Given the description of an element on the screen output the (x, y) to click on. 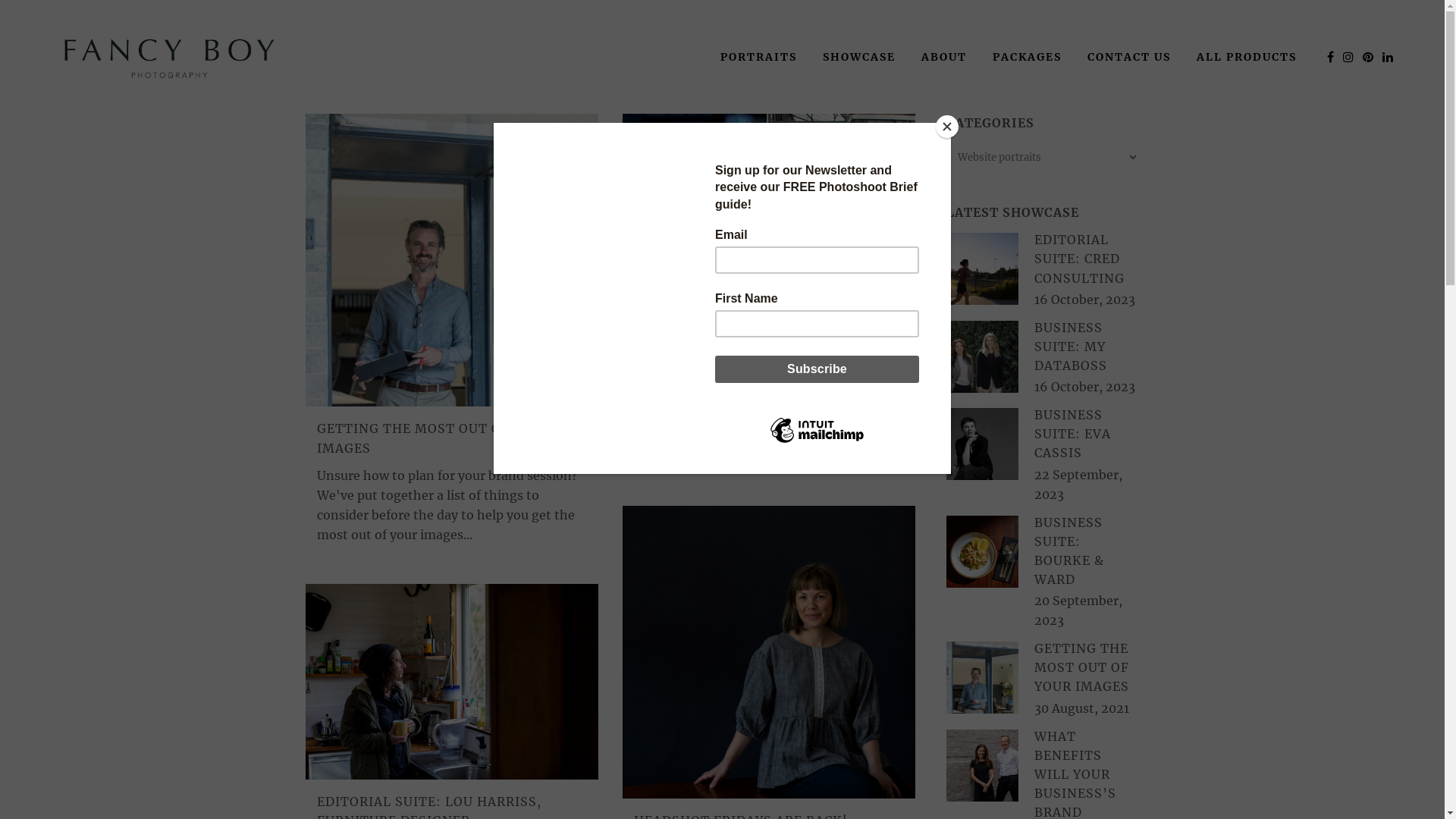
BUSINESS SUITE: MY DATABOSS Element type: text (1070, 346)
Getting the Most Out of Your Images Element type: hover (450, 259)
SHOWCASE Element type: text (858, 56)
ALL PRODUCTS Element type: text (1246, 56)
EDITORIAL SUITE: CRED CONSULTING Element type: text (1079, 258)
BUSINESS SUITE: BOURKE & WARD Element type: text (1069, 550)
PACKAGES Element type: text (1026, 56)
BUSINESS SUITE: EVA CASSIS Element type: text (1072, 433)
PORTRAITS Element type: text (758, 56)
Headshot friDays are back! Element type: hover (767, 651)
GETTING THE MOST OUT OF YOUR IMAGES Element type: text (1081, 666)
Editorial Suite: Lou Harriss, Furniture Designer Element type: hover (450, 681)
ABOUT Element type: text (943, 56)
CONTACT US Element type: text (1128, 56)
GETTING THE MOST OUT OF YOUR IMAGES Element type: text (433, 437)
